Given the description of an element on the screen output the (x, y) to click on. 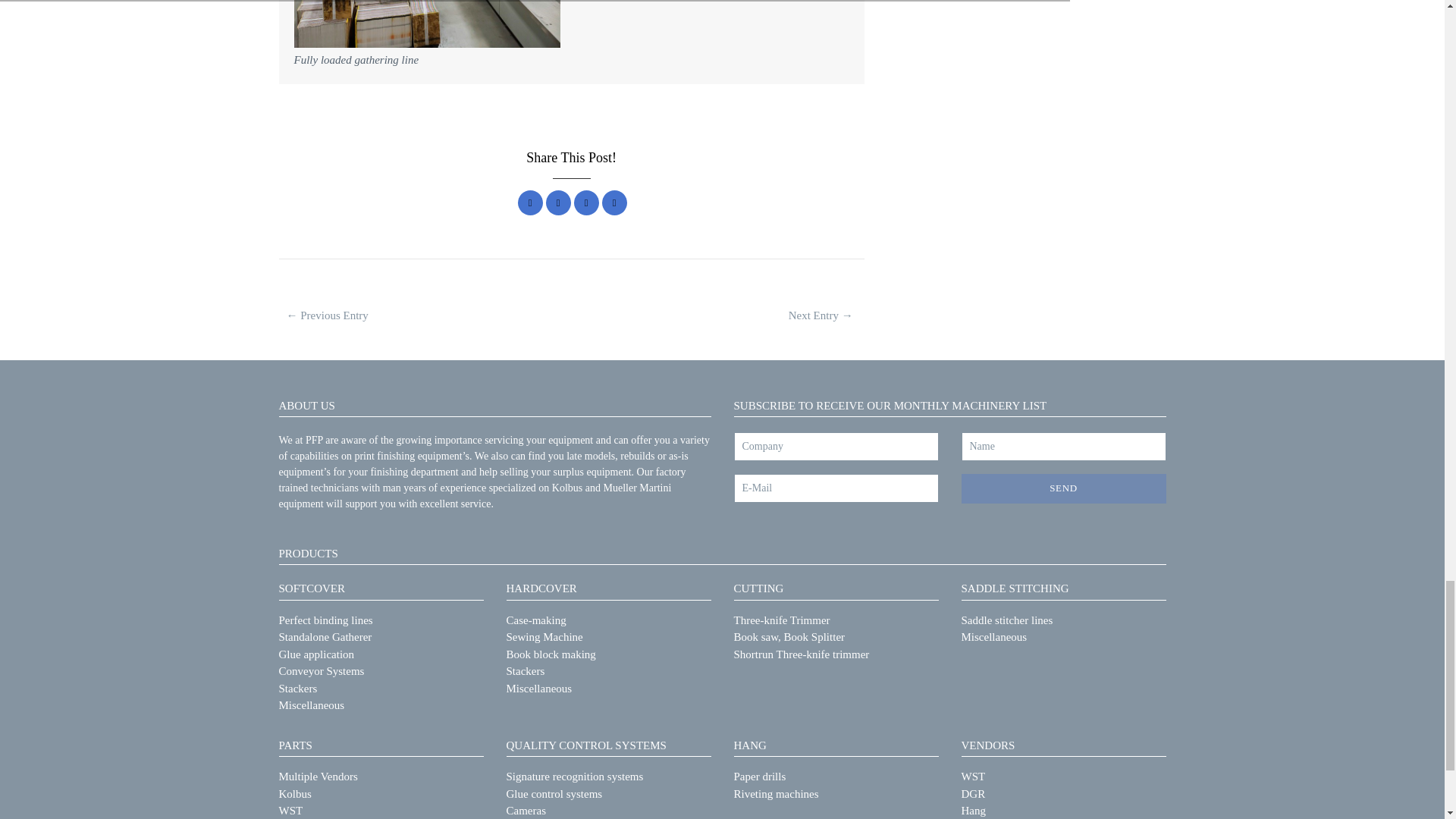
Linkedin (585, 202)
Company (836, 446)
Finishing of complete Kolbus - Mueller Martini bookline (327, 315)
Twitter (558, 202)
Email (614, 202)
Facebook (530, 202)
